Given the description of an element on the screen output the (x, y) to click on. 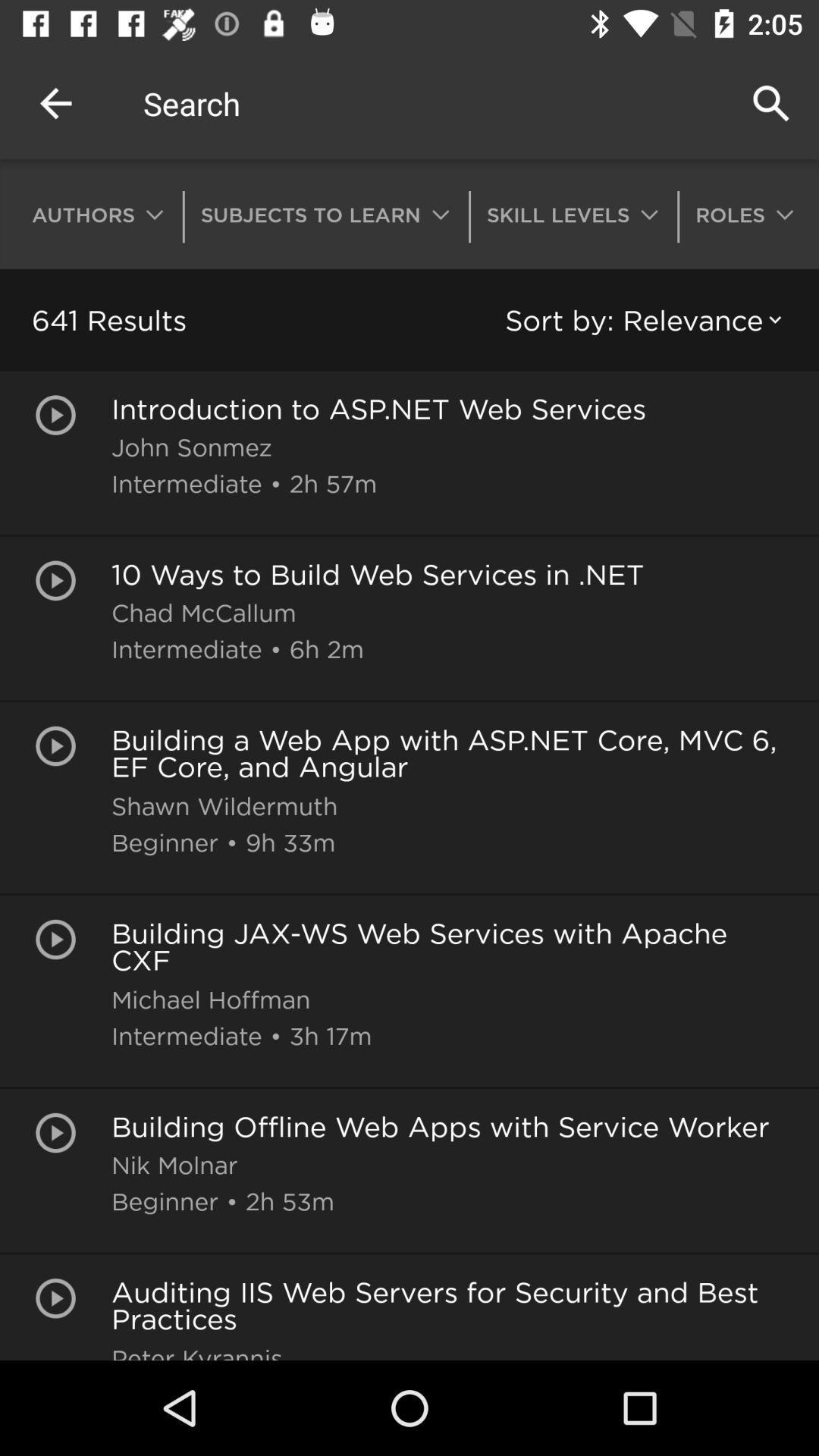
turn off item to the left of search app (55, 103)
